Given the description of an element on the screen output the (x, y) to click on. 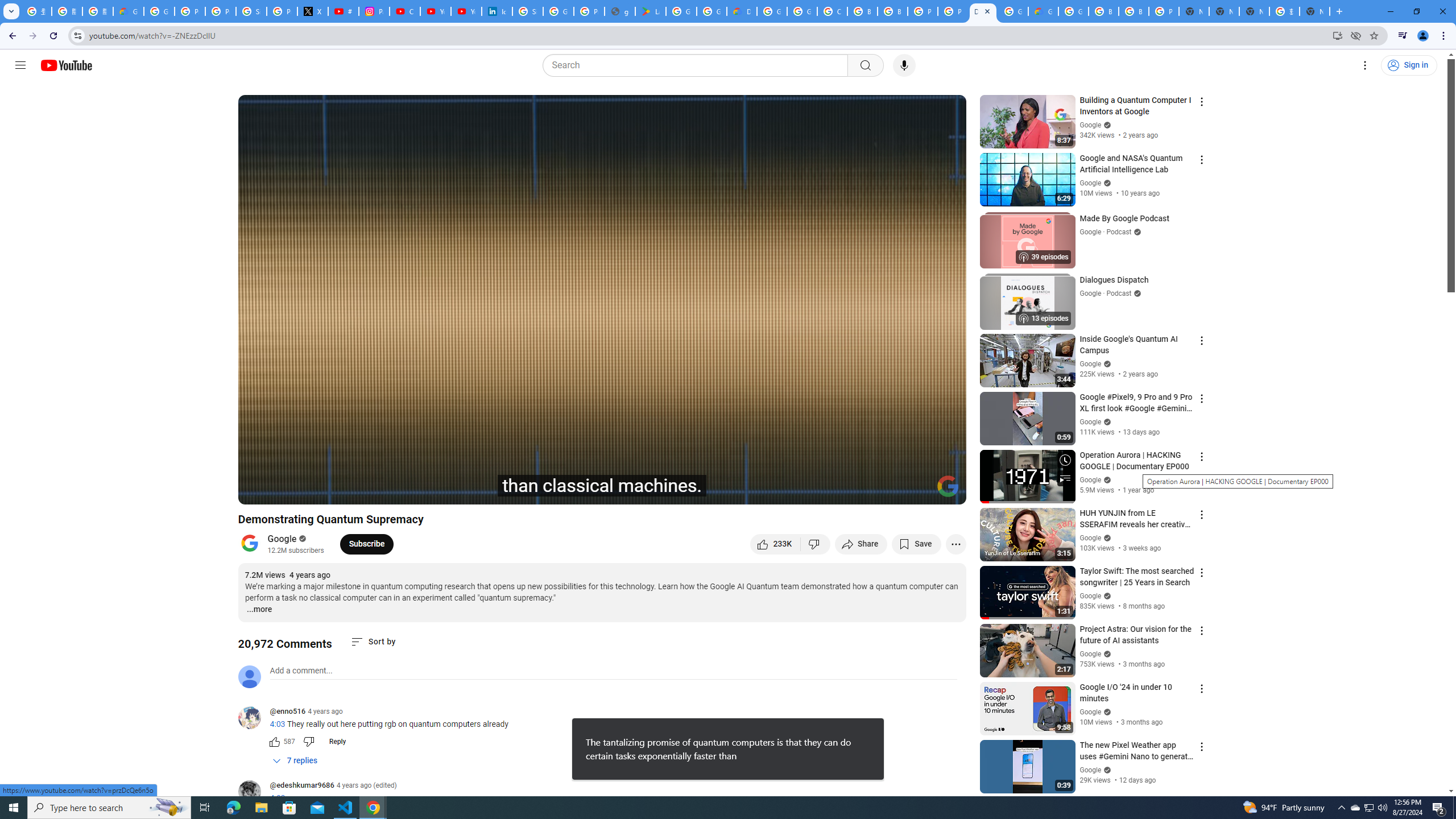
@enno516 (253, 717)
Reply (337, 741)
Channel watermark (947, 486)
Google Cloud Platform (771, 11)
Dislike this comment (307, 741)
Google Cloud Platform (1012, 11)
Dislike this video (815, 543)
4:03 (277, 798)
